Given the description of an element on the screen output the (x, y) to click on. 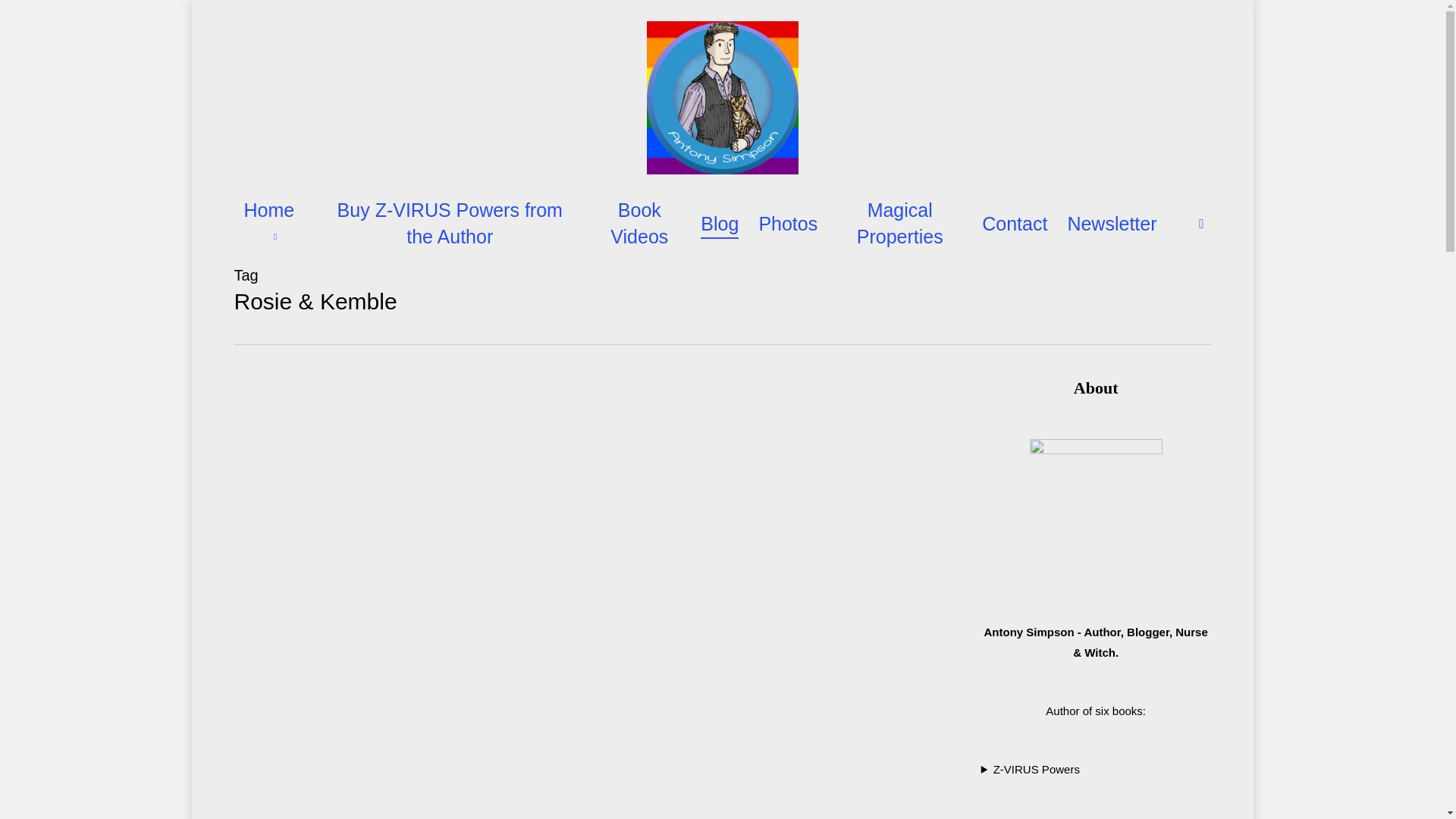
Book Videos (638, 223)
Contact (1013, 223)
Magical Properties (899, 223)
Photos (787, 223)
search (1200, 223)
Blog (719, 223)
Buy Z-VIRUS Powers from the Author (449, 223)
Newsletter (1111, 223)
Home (273, 223)
